Given the description of an element on the screen output the (x, y) to click on. 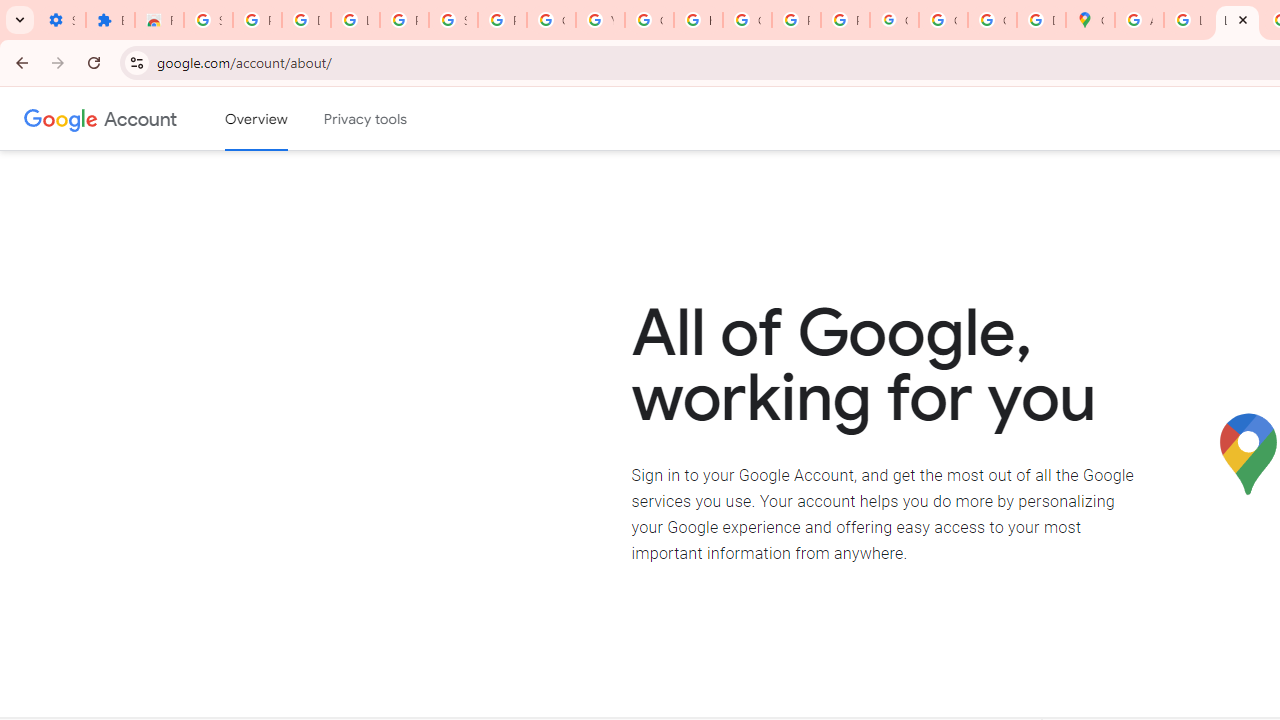
Google logo (61, 118)
Sign in - Google Accounts (208, 20)
https://scholar.google.com/ (698, 20)
Reviews: Helix Fruit Jump Arcade Game (159, 20)
